Given the description of an element on the screen output the (x, y) to click on. 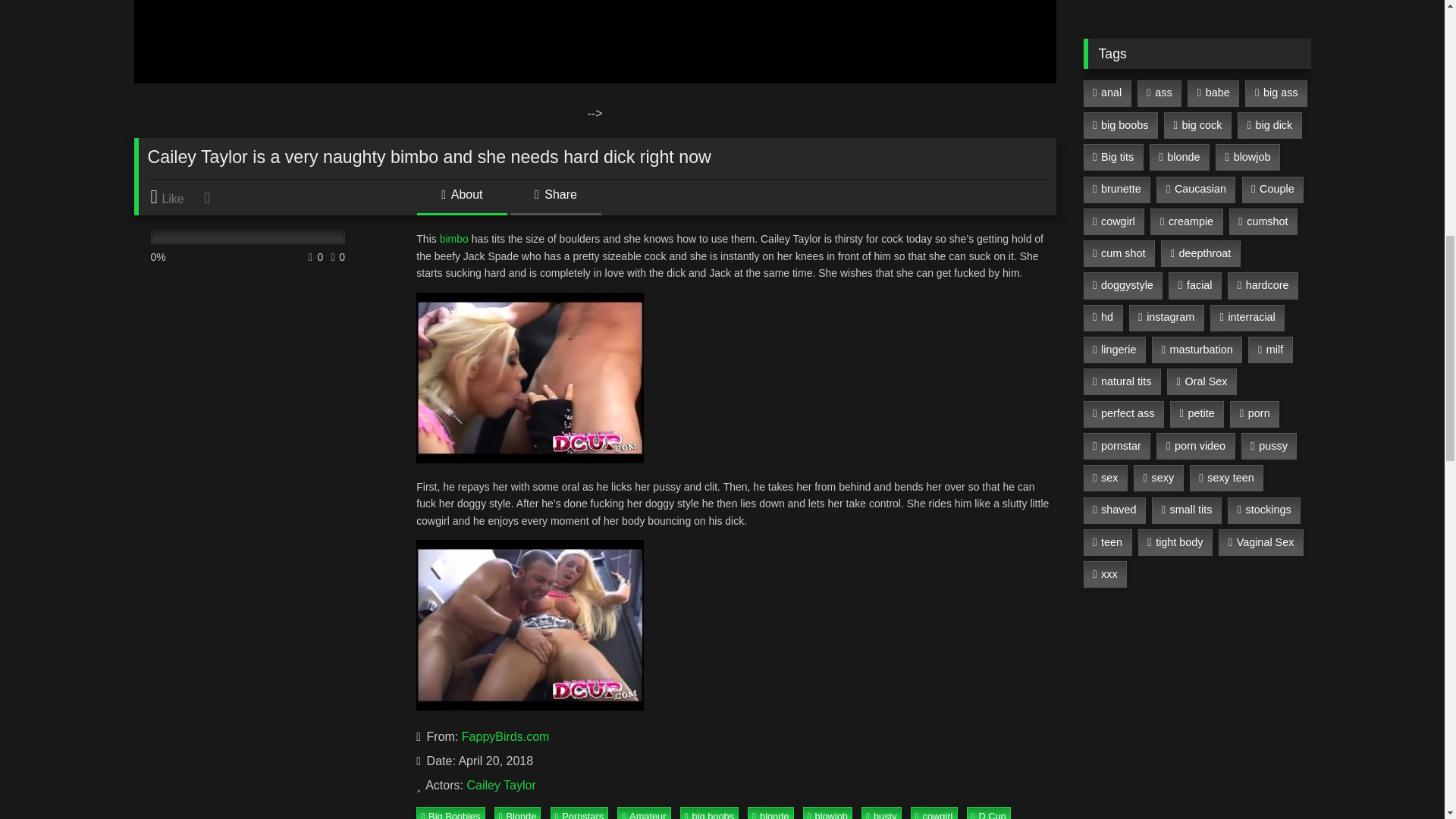
cowgirl (934, 812)
blonde (770, 812)
blowjob (827, 812)
Cailey Taylor (500, 784)
Big Boobies (450, 812)
busty (881, 812)
Blonde (518, 812)
D Cup (988, 812)
Big Boobies (450, 812)
Cailey Taylor (500, 784)
big boobs (708, 812)
blowjob (827, 812)
cowgirl (934, 812)
About (461, 200)
Amateur (643, 812)
